Given the description of an element on the screen output the (x, y) to click on. 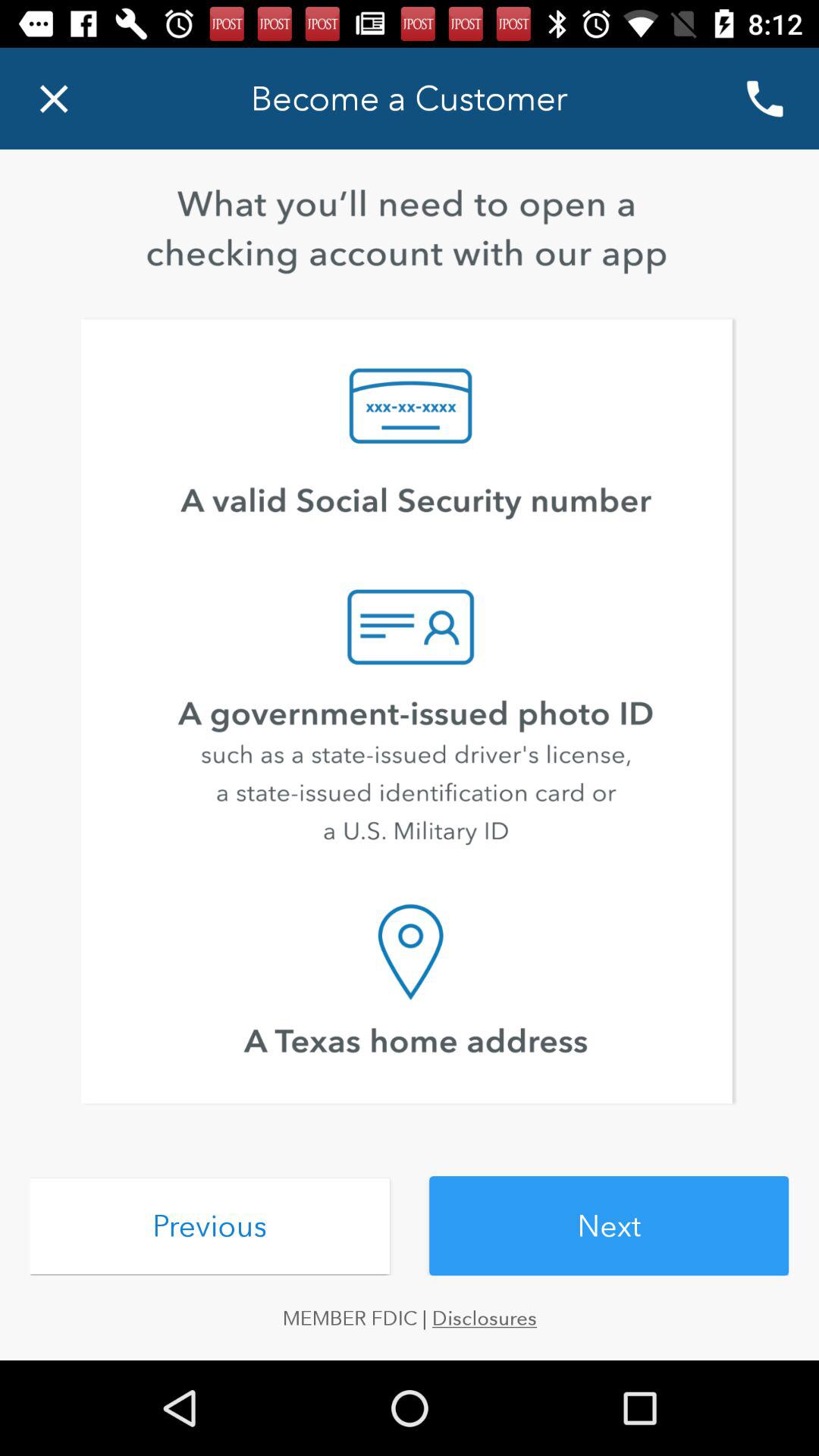
jump to next icon (608, 1225)
